Given the description of an element on the screen output the (x, y) to click on. 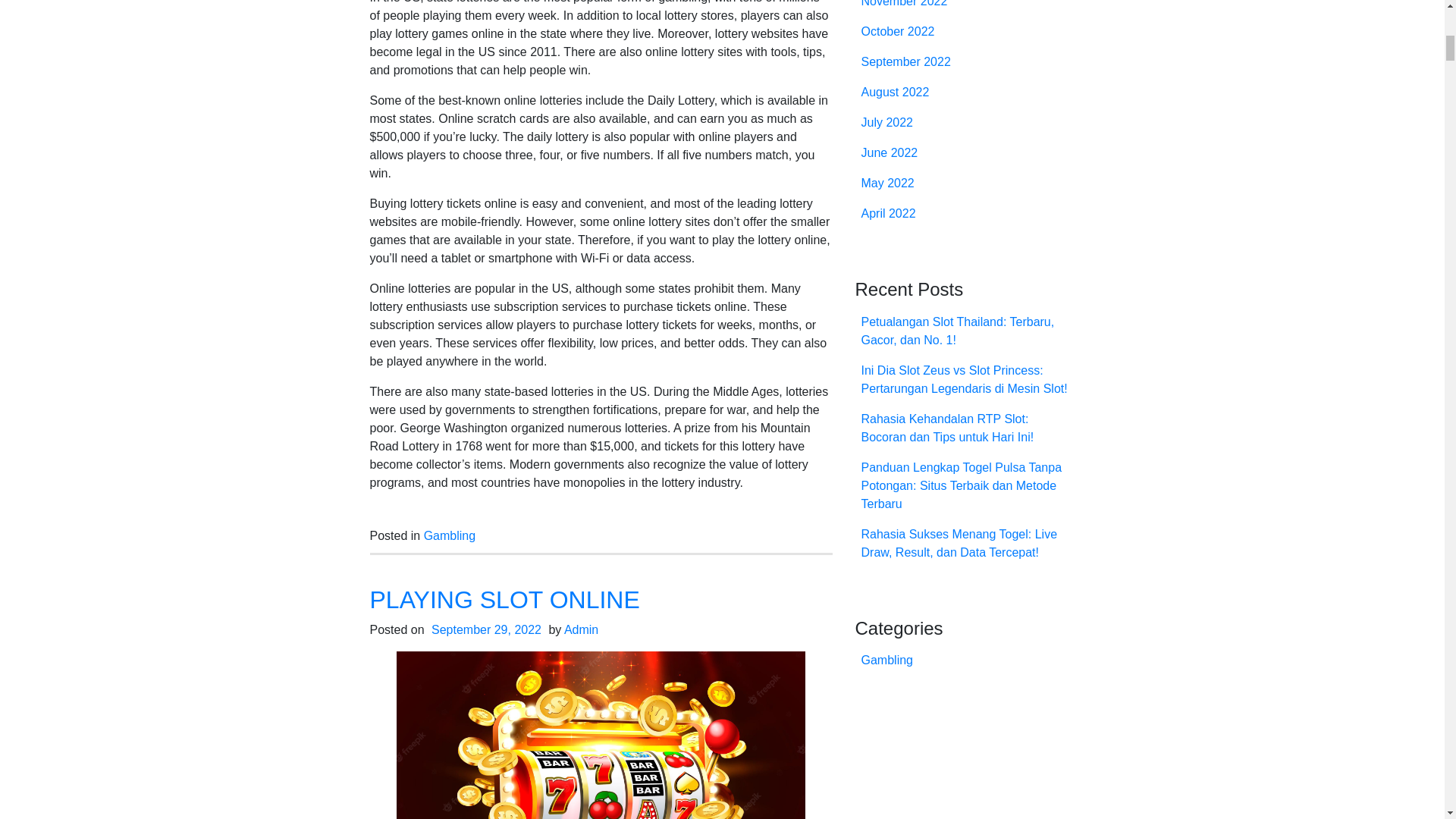
PLAYING SLOT ONLINE (504, 599)
Admin (581, 629)
September 29, 2022 (486, 629)
Gambling (449, 535)
